Given the description of an element on the screen output the (x, y) to click on. 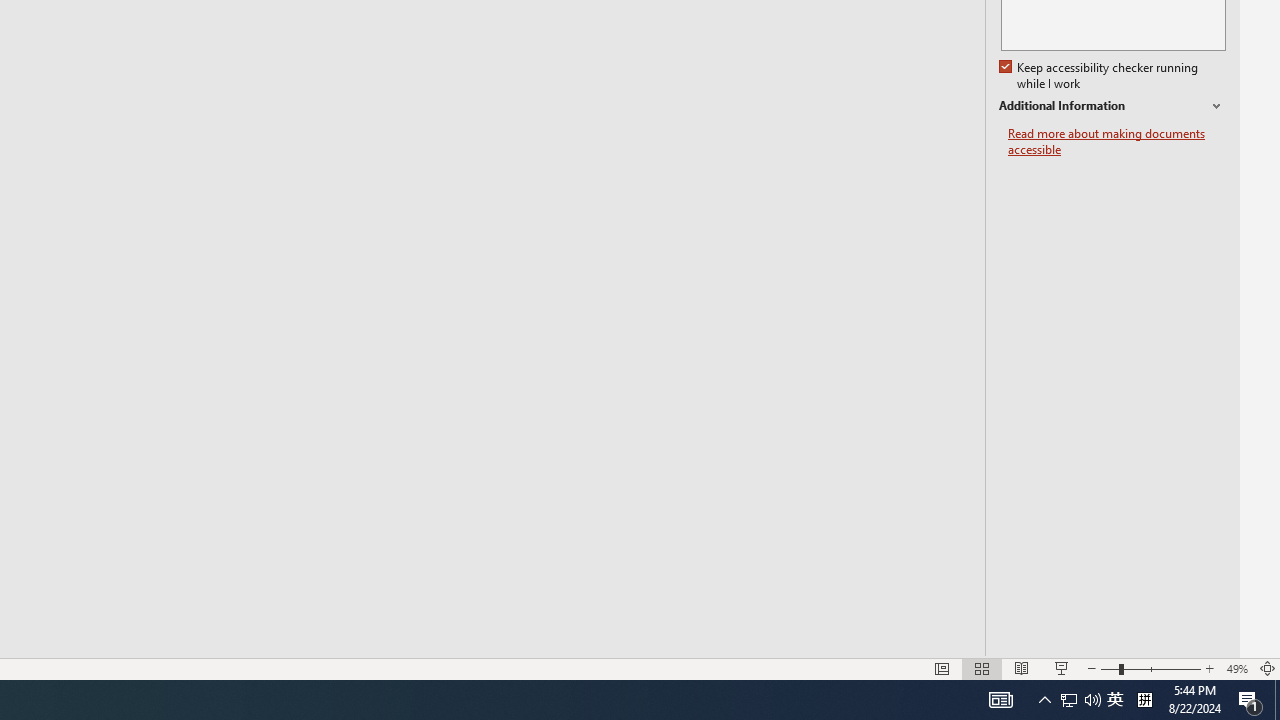
Additional Information (1112, 106)
Zoom 49% (1236, 668)
Keep accessibility checker running while I work (1099, 76)
Read more about making documents accessible (1117, 142)
